Given the description of an element on the screen output the (x, y) to click on. 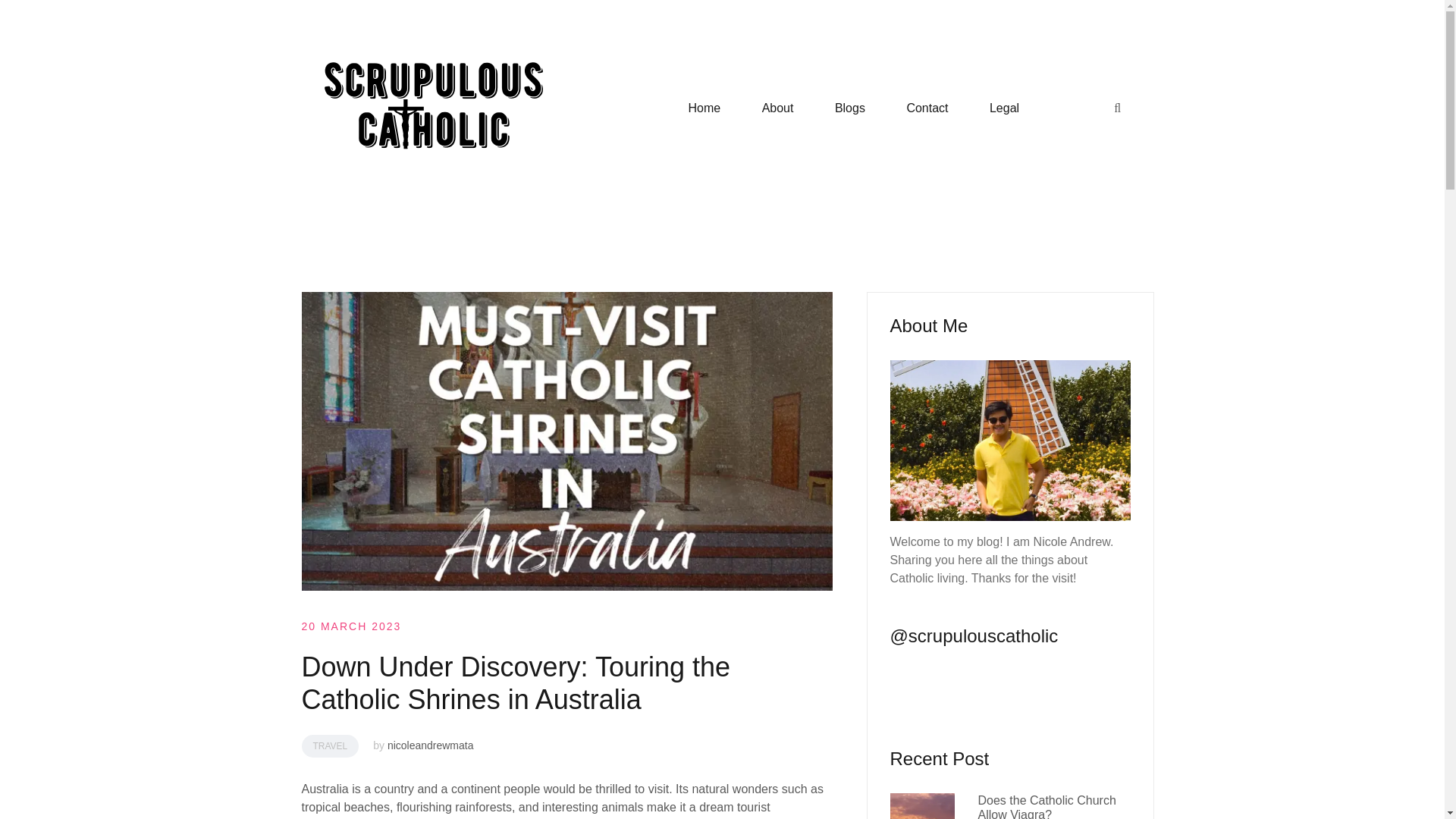
About (777, 107)
TRAVEL (330, 745)
Blogs (849, 107)
Legal (1004, 107)
20 MARCH 2023 (351, 625)
nicoleandrewmata (430, 745)
Contact (926, 107)
Does the Catholic Church Allow Viagra? (1045, 806)
Home (703, 107)
